Given the description of an element on the screen output the (x, y) to click on. 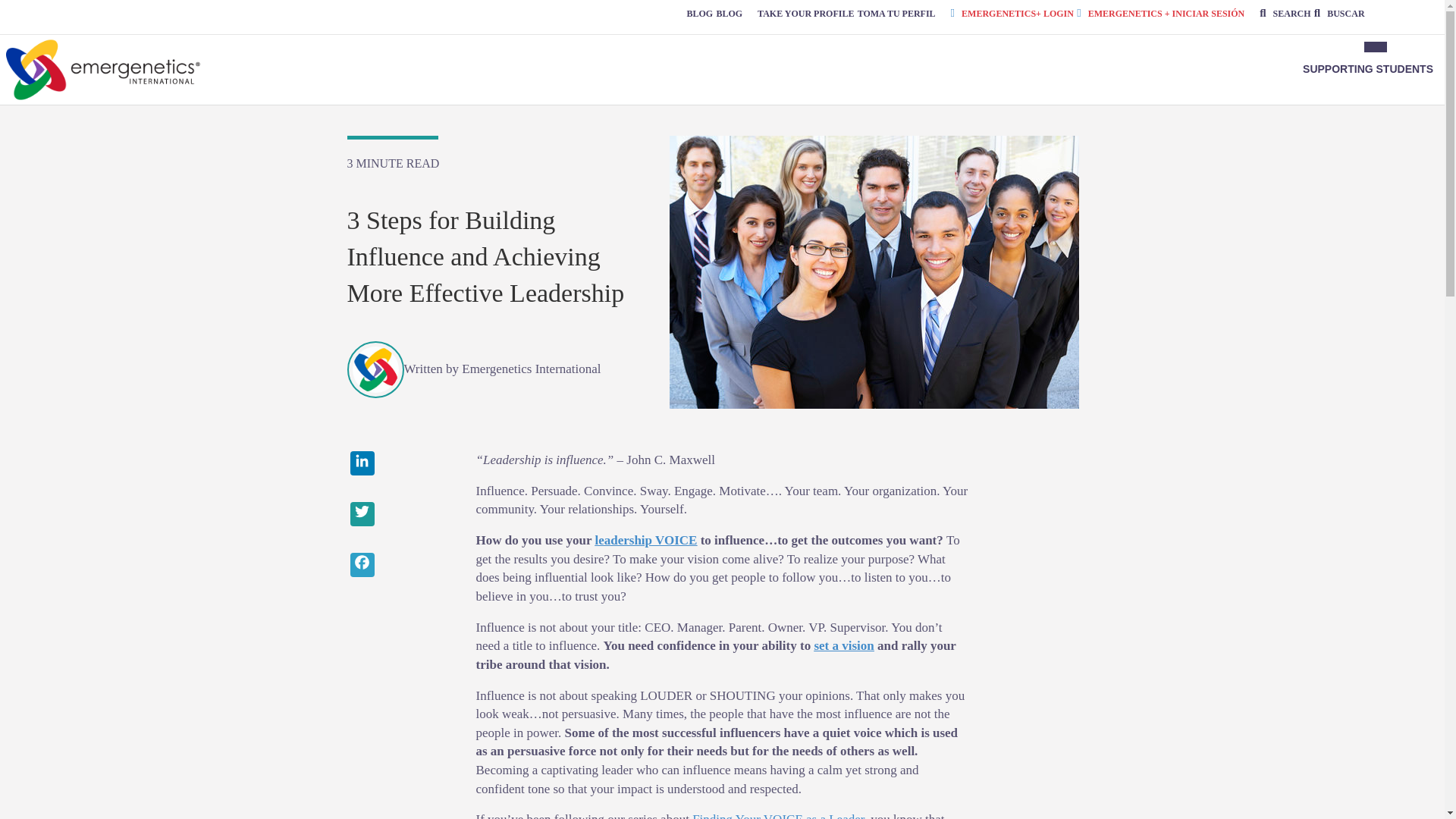
TOMA TU PERFIL (896, 13)
BLOG (729, 13)
BLOG (699, 13)
LinkedIn (399, 465)
Twitter (399, 515)
TAKE YOUR PROFILE (805, 13)
SEARCH (1284, 13)
Facebook (399, 566)
BUSCAR (1339, 13)
